Given the description of an element on the screen output the (x, y) to click on. 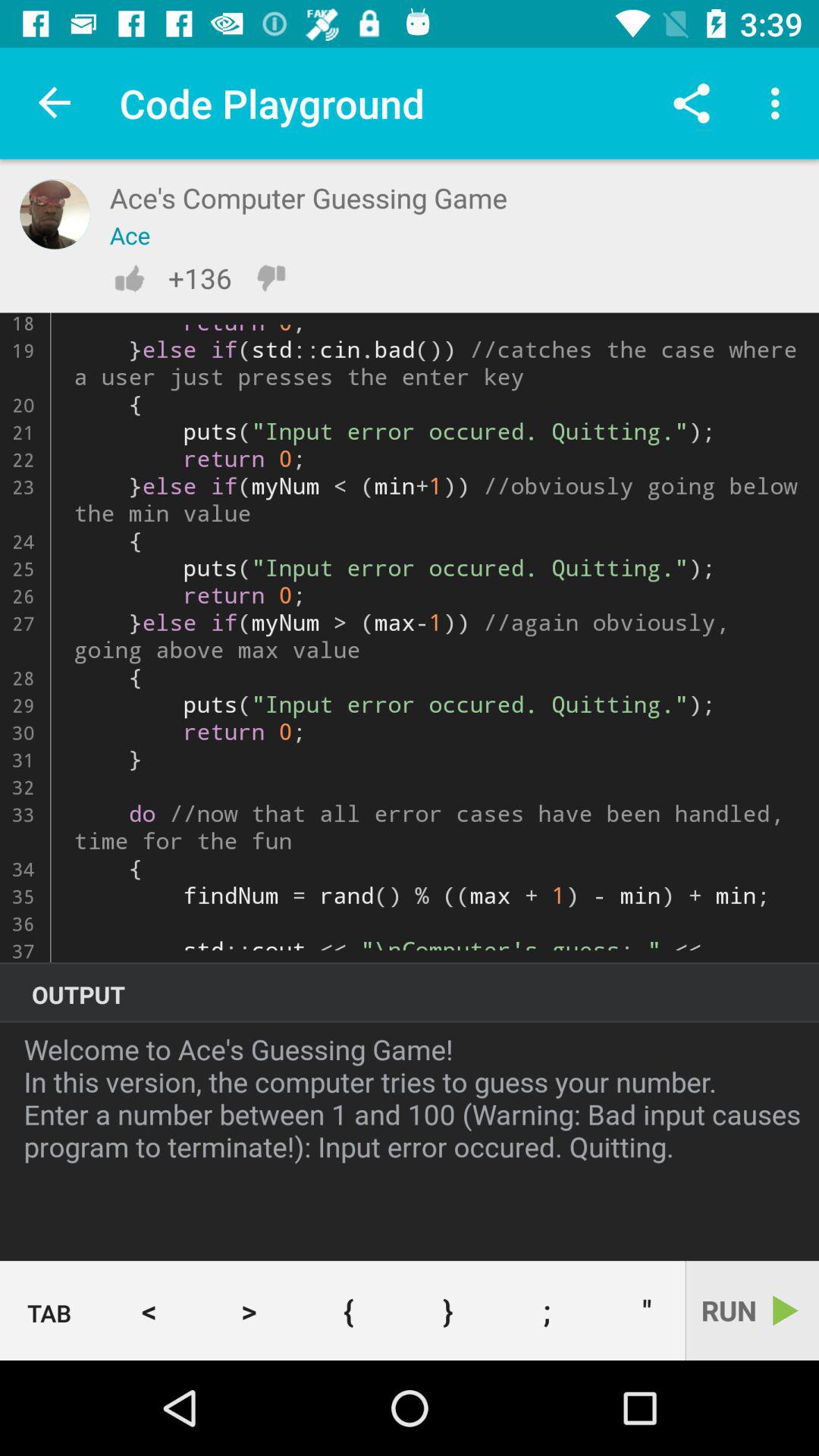
turn on the < item (149, 1310)
